Given the description of an element on the screen output the (x, y) to click on. 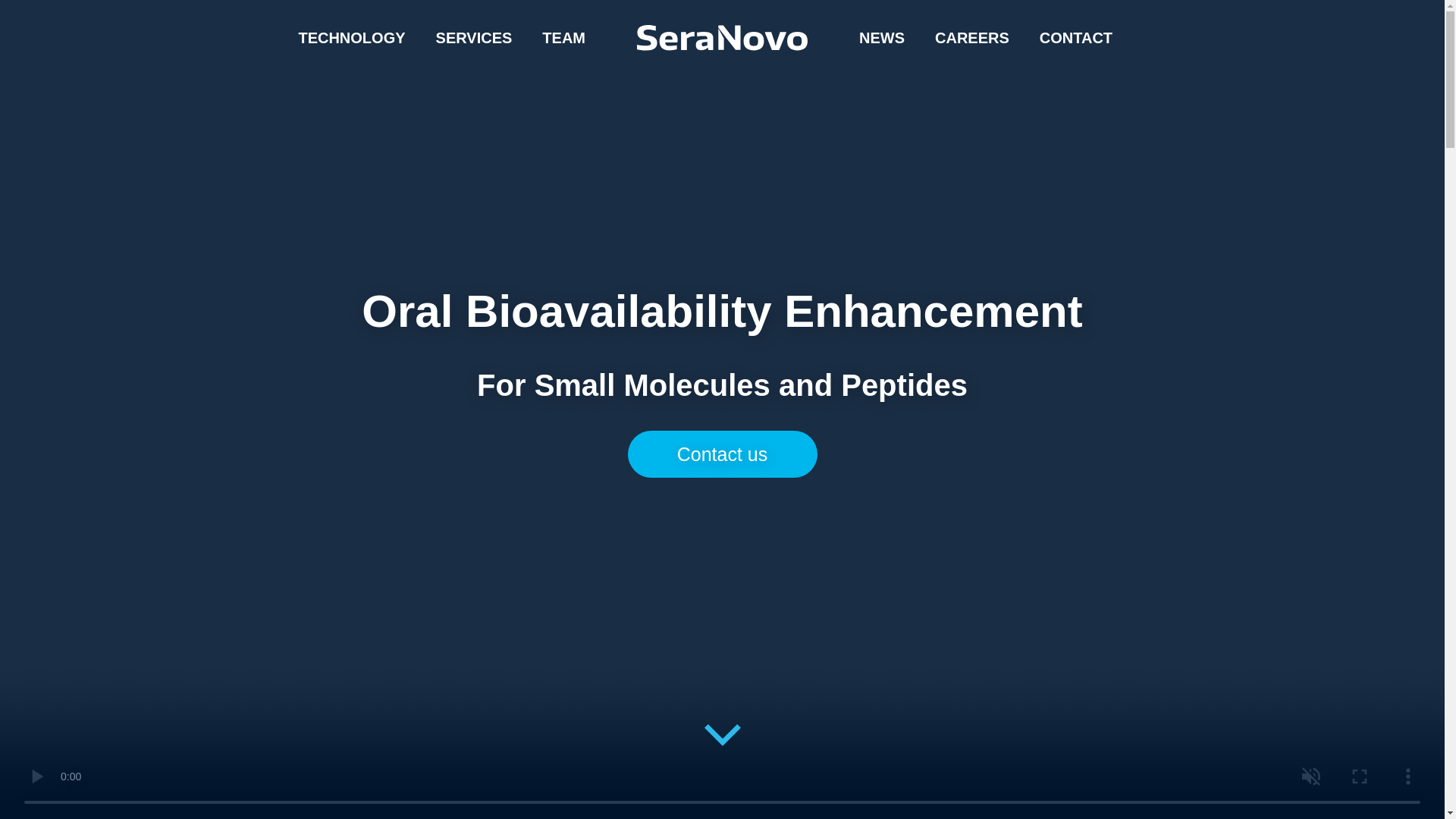
Contact us (721, 454)
NEWS (882, 38)
CAREERS (972, 38)
TEAM (563, 38)
SERVICES (473, 38)
CONTACT (1075, 38)
TECHNOLOGY (351, 38)
